Given the description of an element on the screen output the (x, y) to click on. 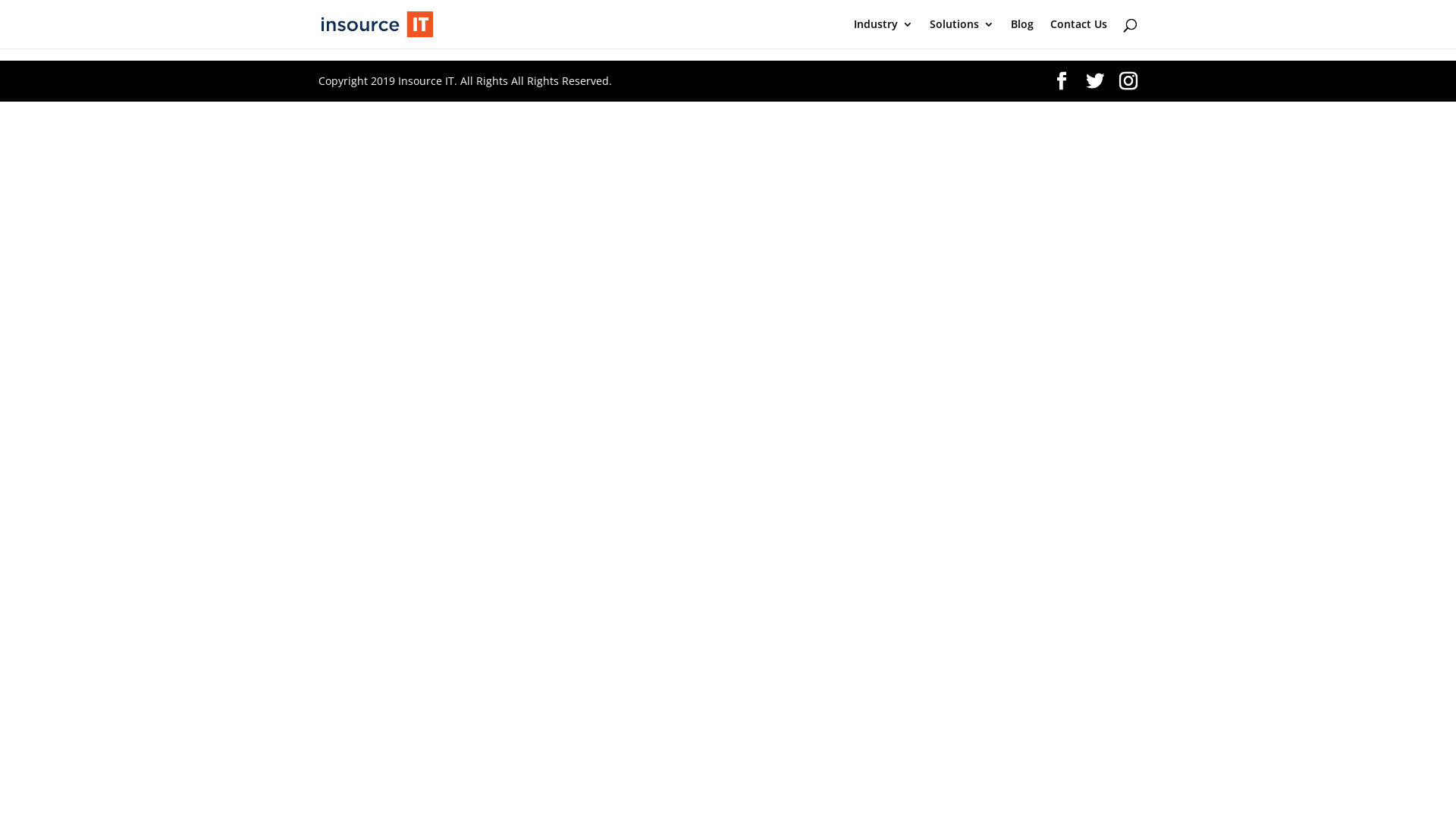
Contact Us Element type: text (1078, 33)
Industry Element type: text (883, 33)
Solutions Element type: text (961, 33)
Blog Element type: text (1021, 33)
